Given the description of an element on the screen output the (x, y) to click on. 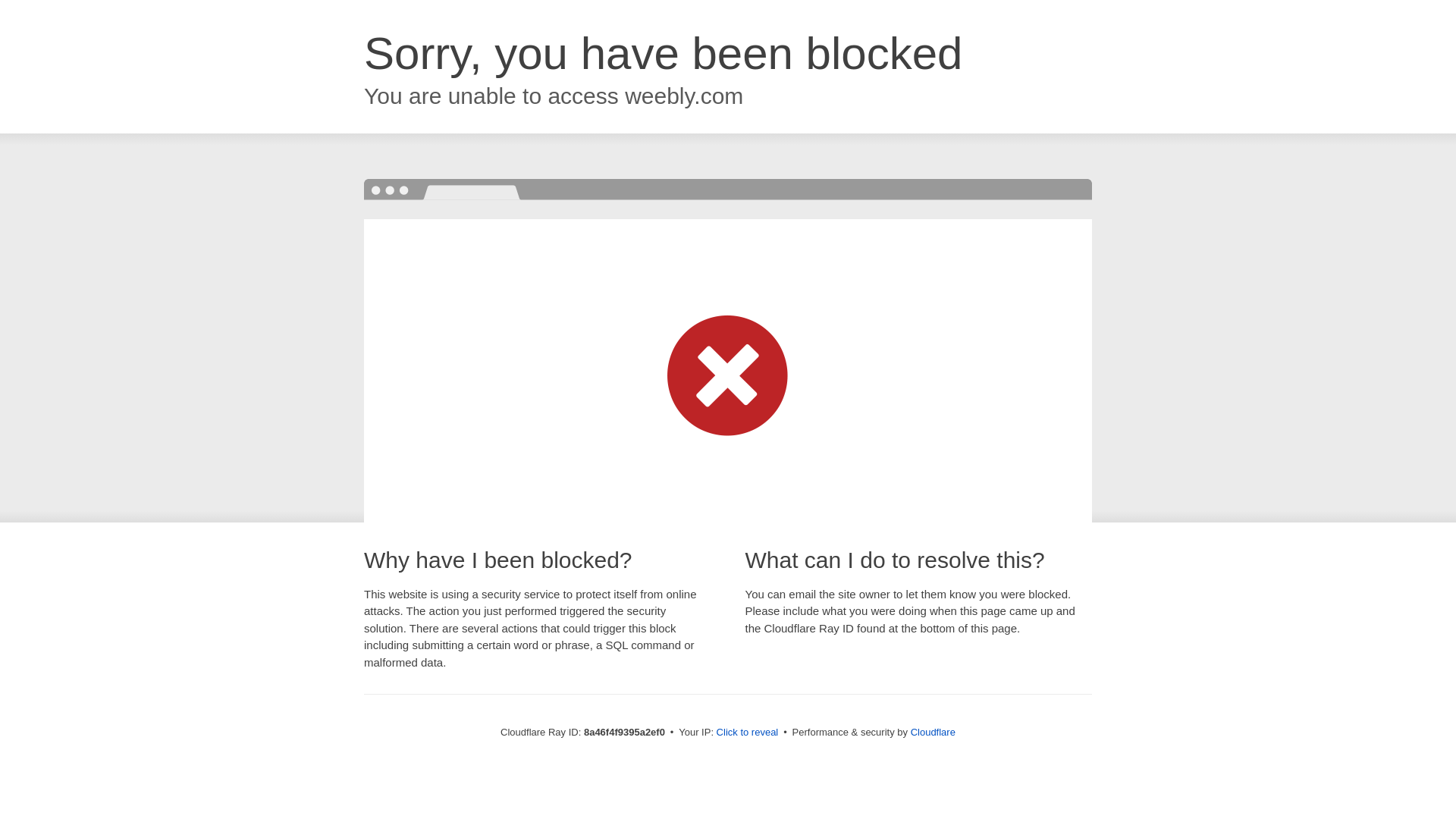
Cloudflare (933, 731)
Click to reveal (747, 732)
